Given the description of an element on the screen output the (x, y) to click on. 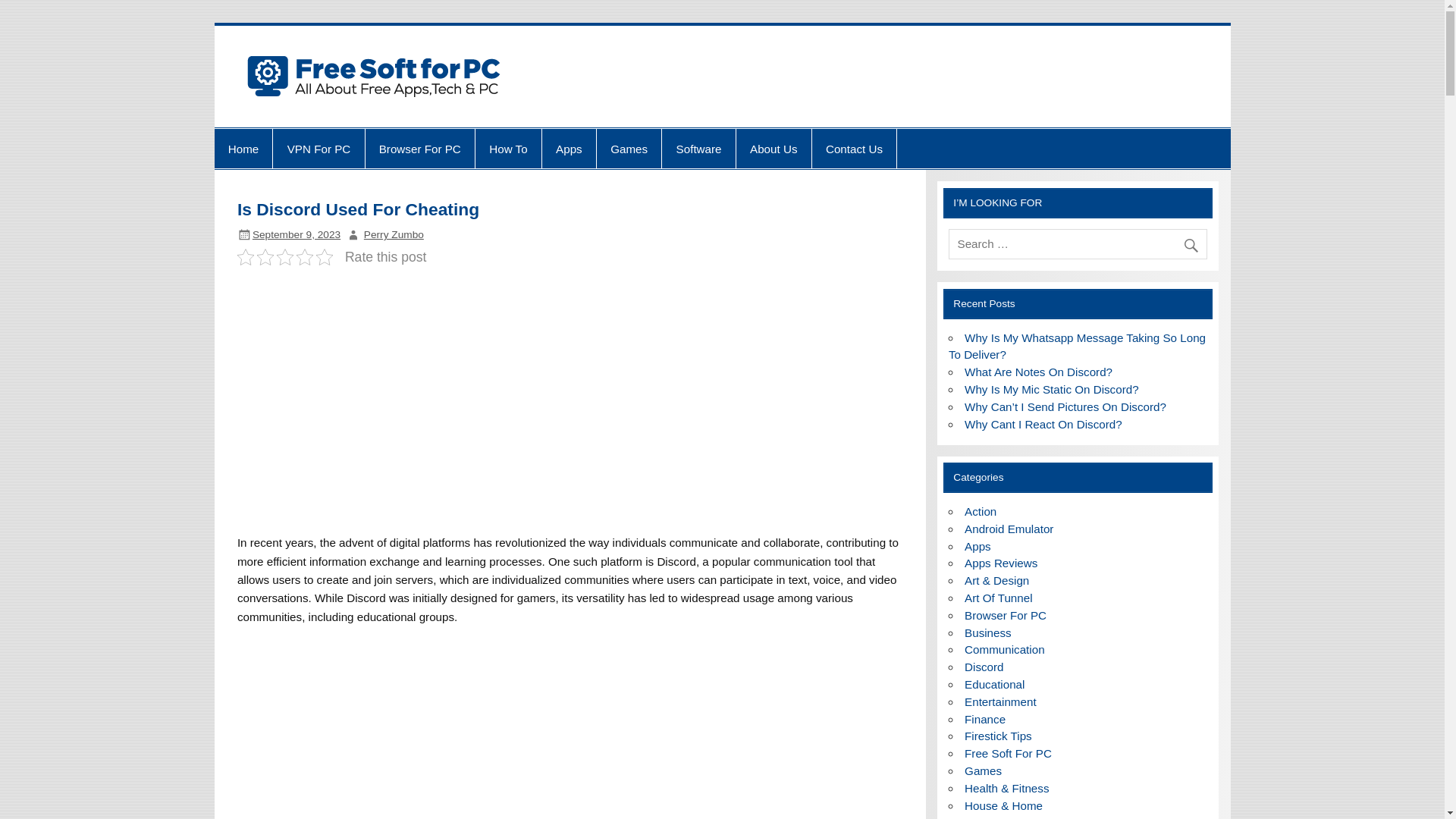
7:41 pm (295, 234)
Perry Zumbo (393, 234)
About Us (773, 148)
Contact Us (854, 148)
Advertisement (569, 726)
Browser For PC (420, 148)
Games (628, 148)
VPN For PC (318, 148)
Apps (568, 148)
How To (508, 148)
